Given the description of an element on the screen output the (x, y) to click on. 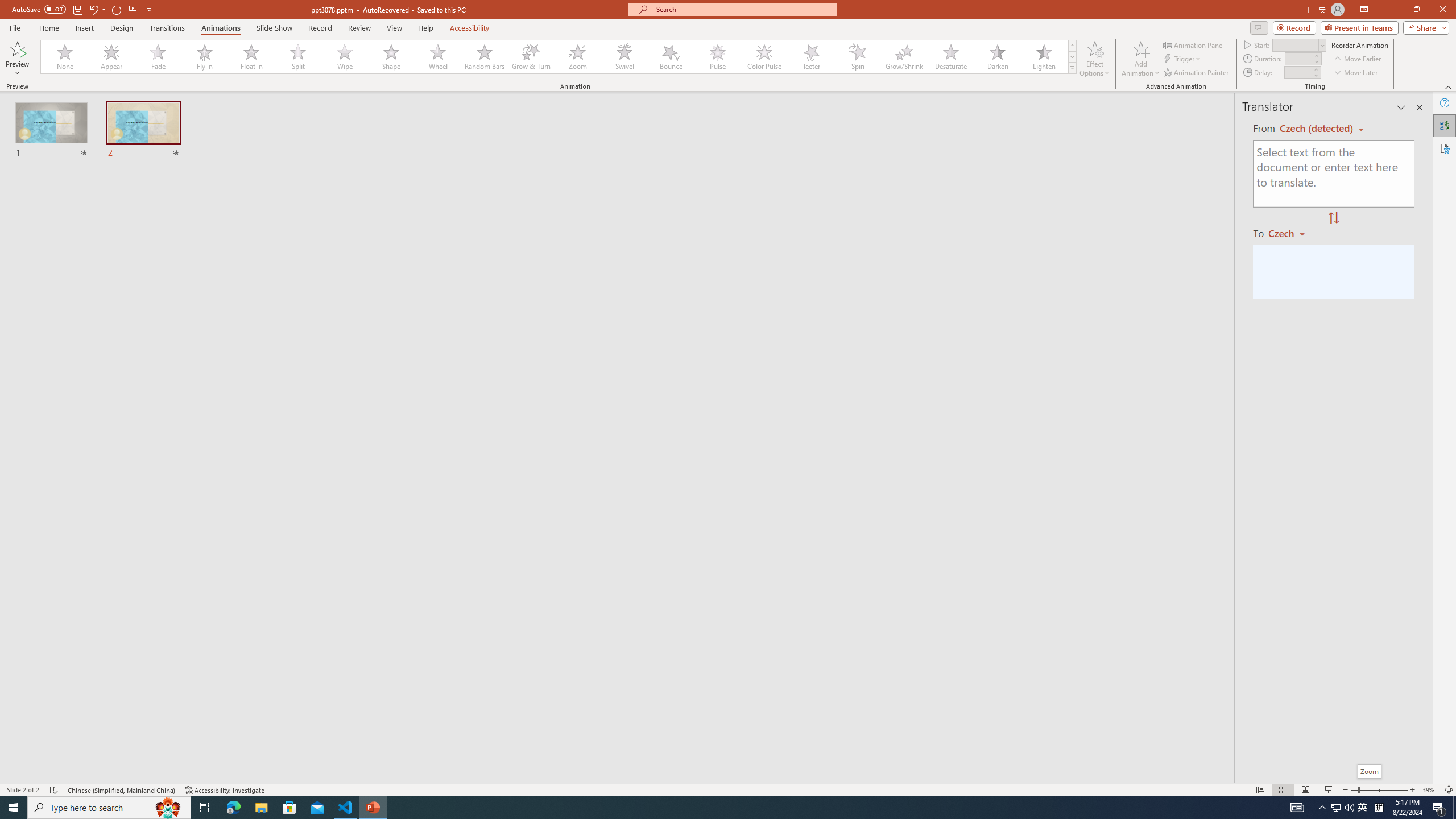
Effect Options (1094, 58)
AutomationID: AnimationGallery (558, 56)
Darken (997, 56)
Swivel (624, 56)
Animation Styles (1071, 67)
